Given the description of an element on the screen output the (x, y) to click on. 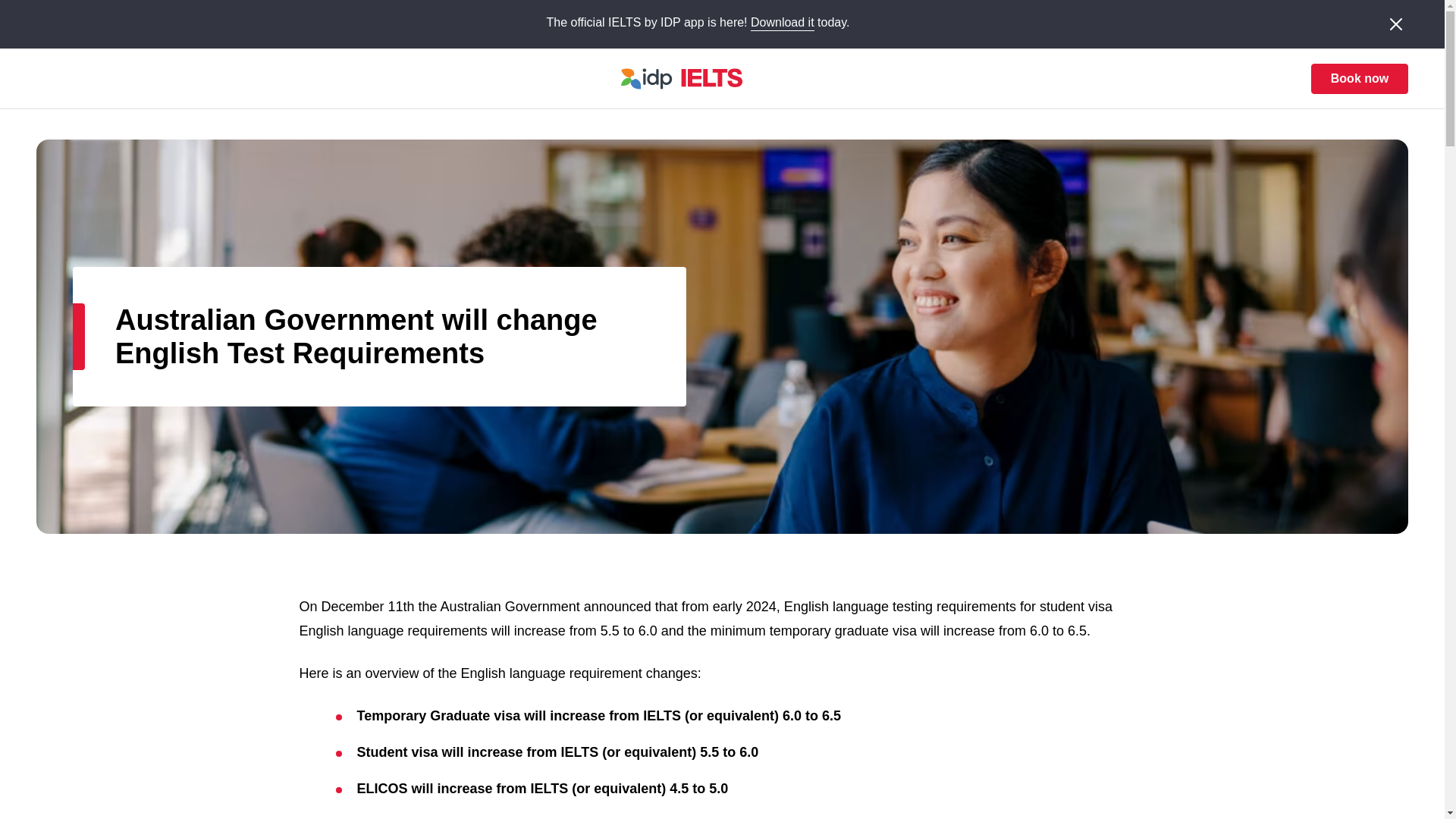
Book now (1359, 78)
Download it (782, 23)
IDP IELTS (658, 78)
